Given the description of an element on the screen output the (x, y) to click on. 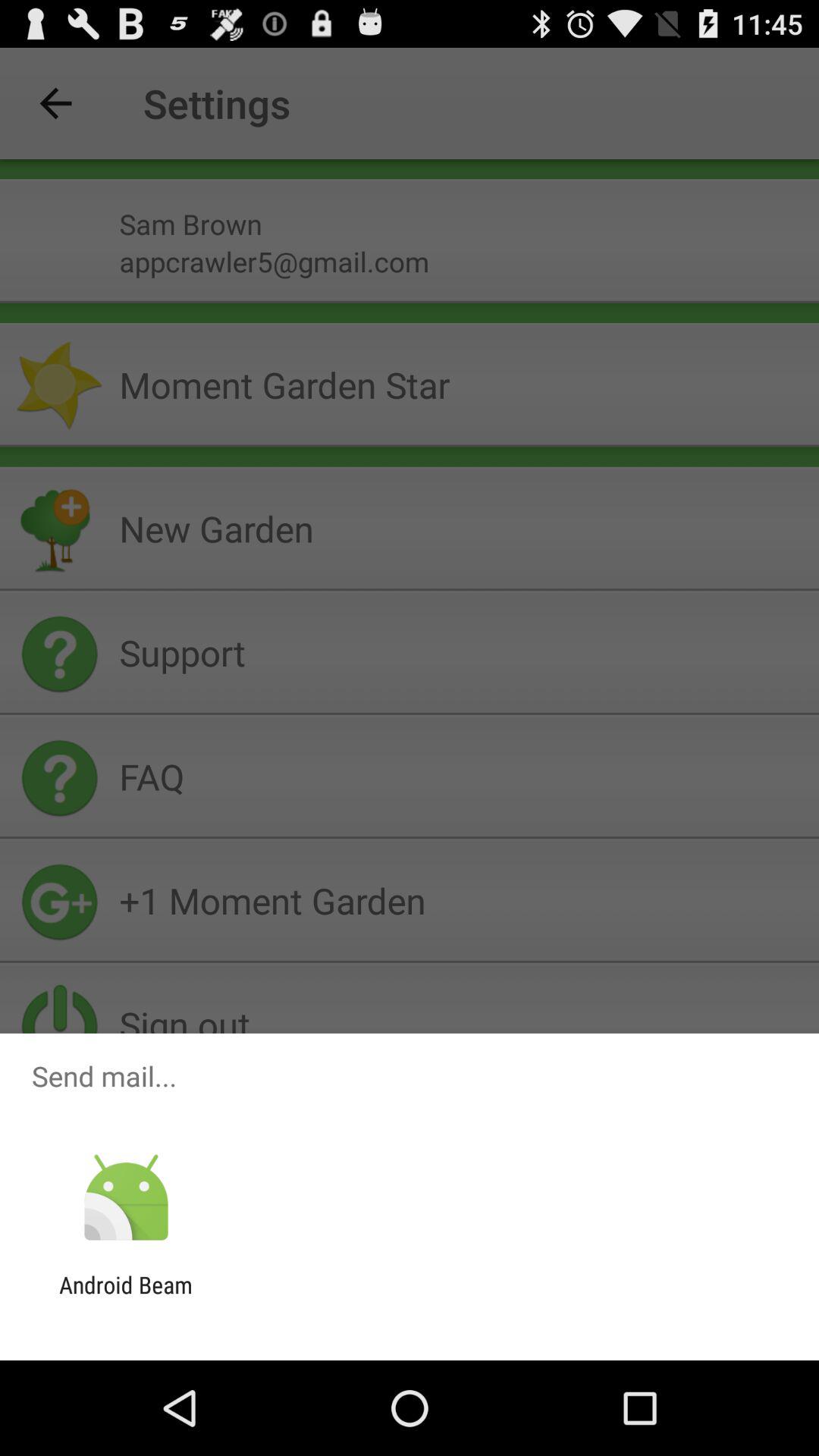
launch the icon above android beam item (126, 1198)
